Given the description of an element on the screen output the (x, y) to click on. 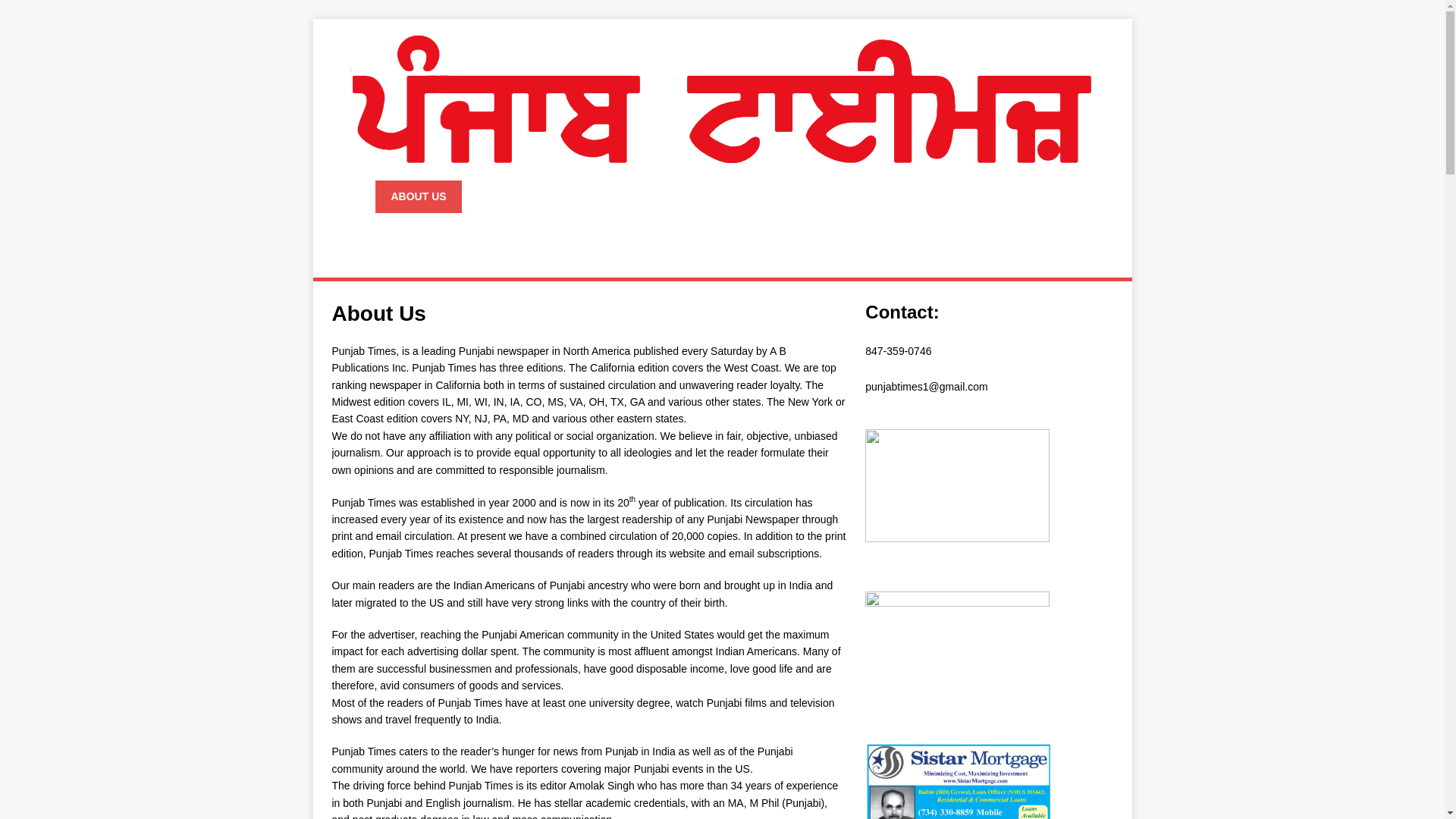
HOME (343, 196)
CONTACT US (511, 196)
PRINT EDITIONS (618, 196)
ABOUT US (417, 196)
